Given the description of an element on the screen output the (x, y) to click on. 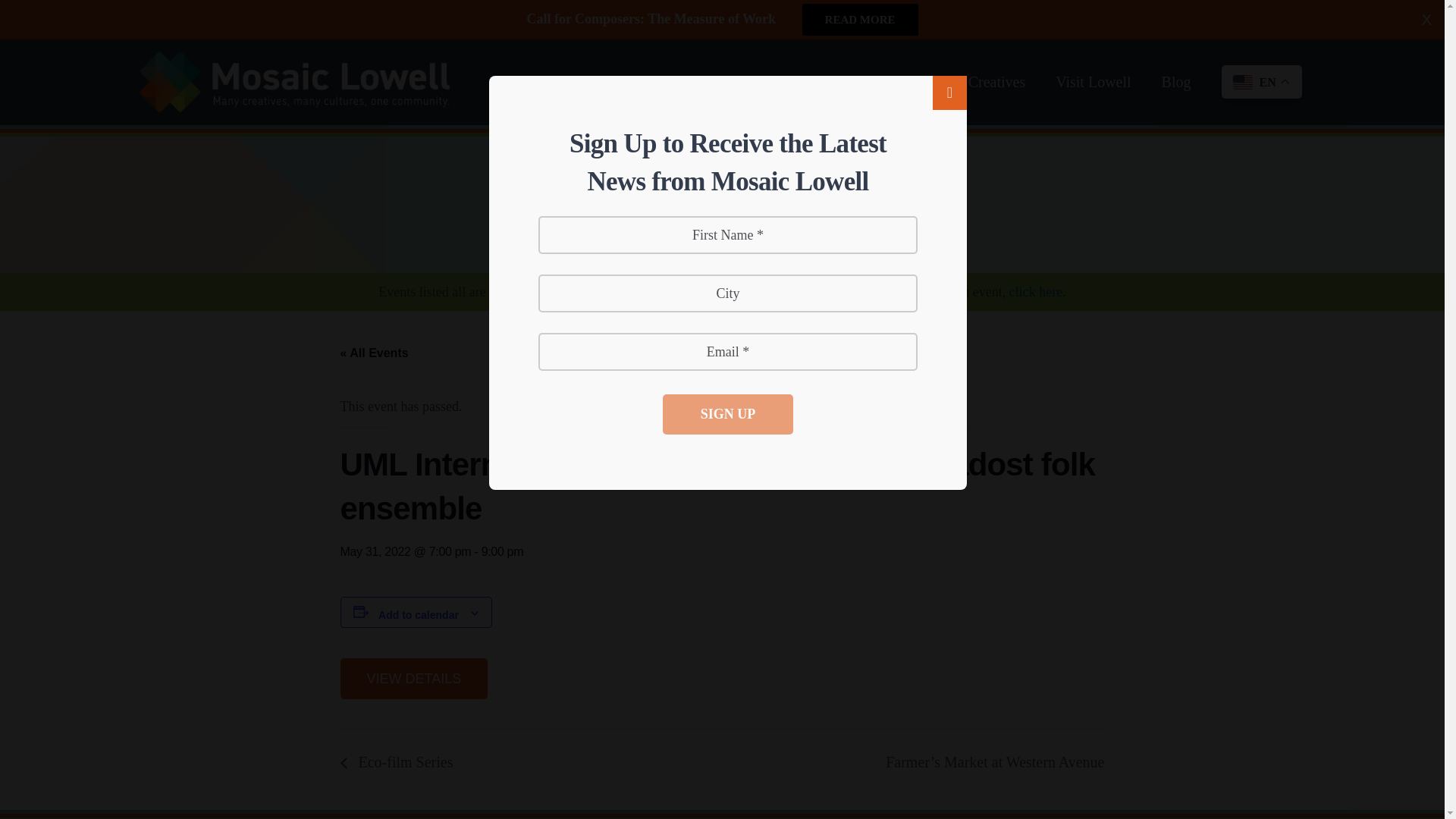
READ MORE (860, 20)
Sign Up (727, 413)
Visit Lowell (1093, 81)
For Creatives (984, 81)
Blog (1176, 81)
Add to calendar (418, 614)
What We Do (785, 81)
Directory (883, 81)
click here. (1037, 291)
